Given the description of an element on the screen output the (x, y) to click on. 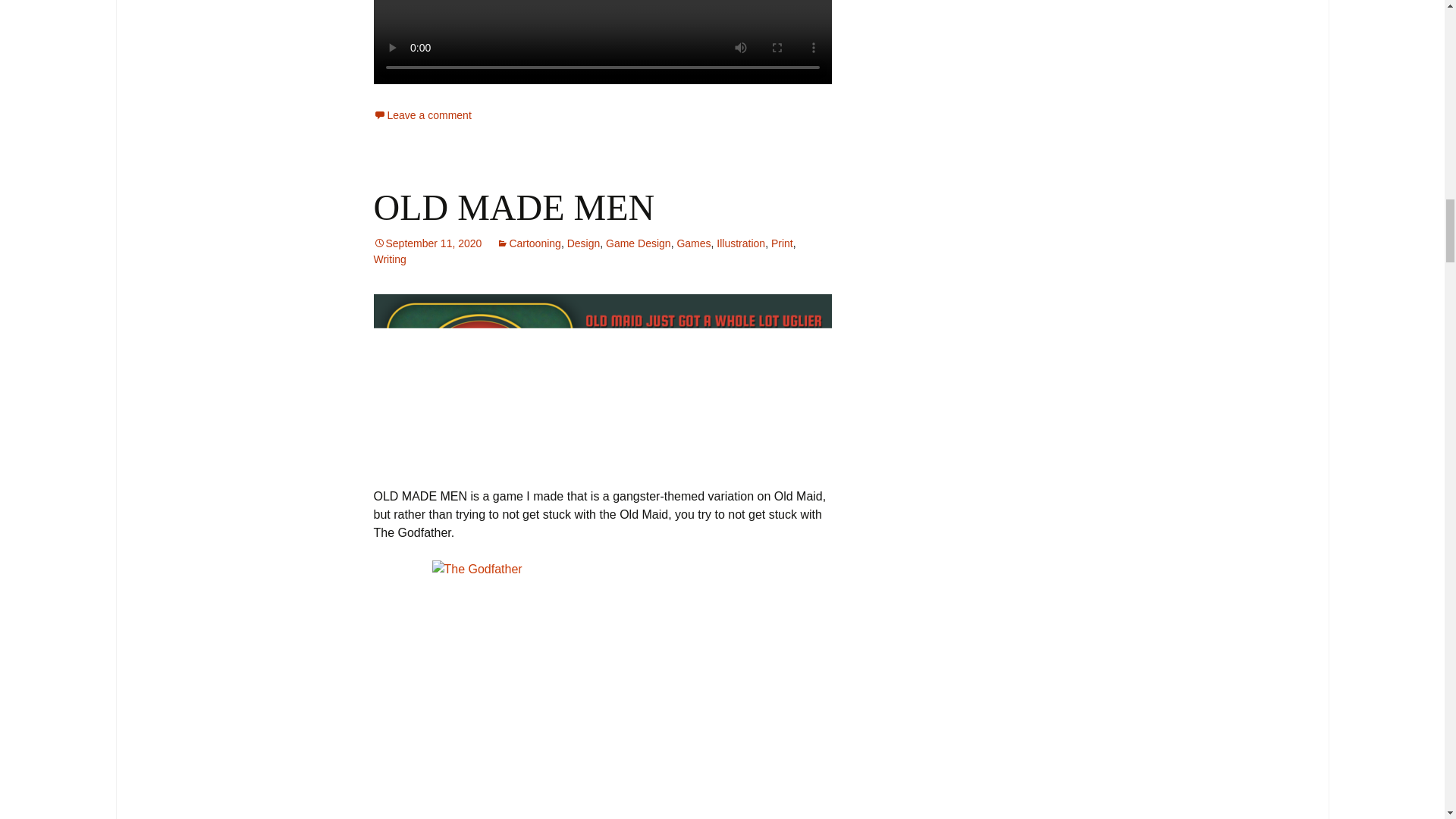
Permalink to OLD MADE MEN (426, 243)
Leave a comment (421, 114)
September 11, 2020 (426, 243)
OLD MADE MEN (512, 207)
